Given the description of an element on the screen output the (x, y) to click on. 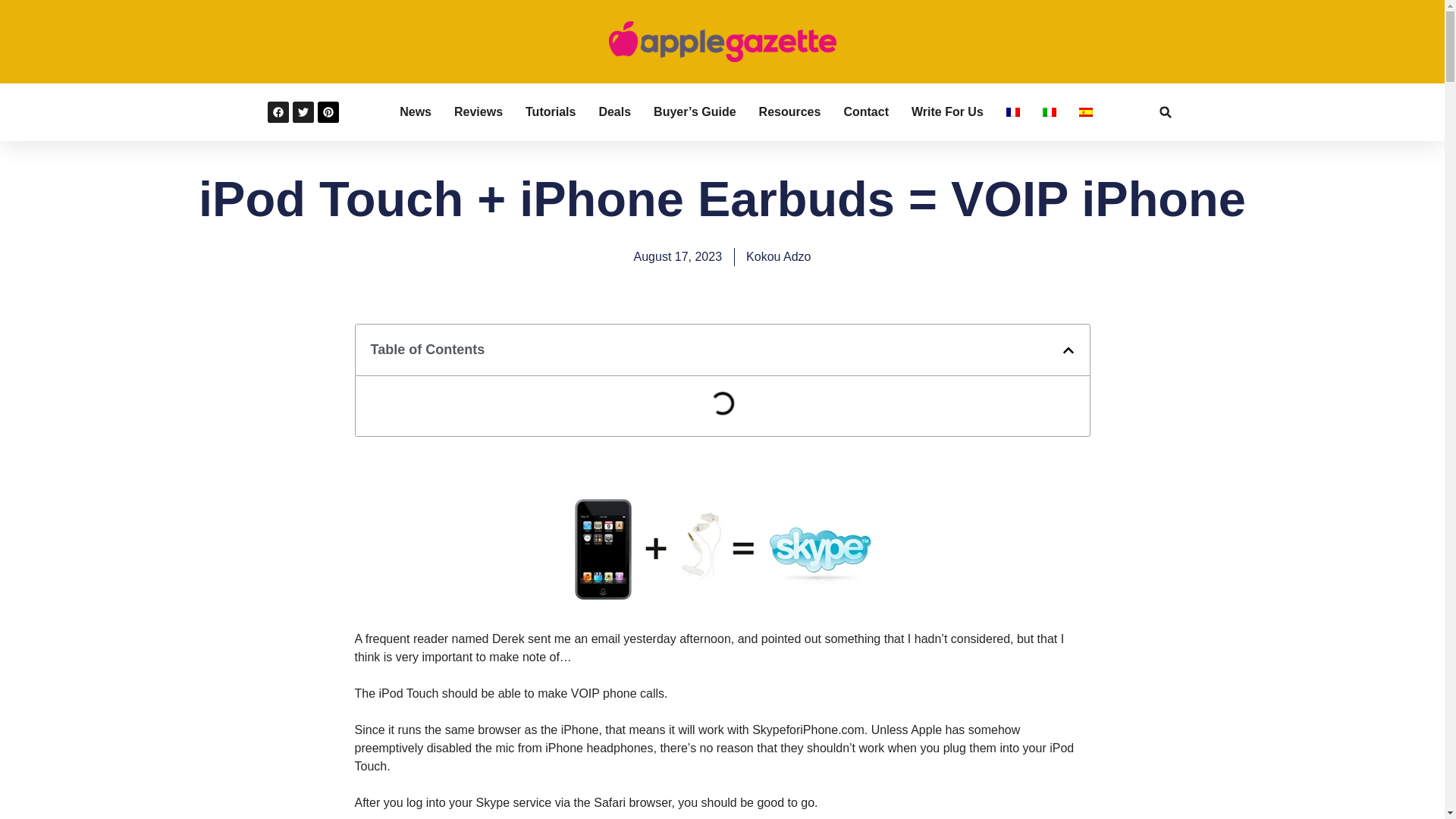
News (414, 112)
ipodtouchphone.jpg (721, 602)
Resources (789, 112)
Reviews (478, 112)
Write For Us (947, 112)
Tutorials (550, 112)
Deals (614, 112)
Contact (865, 112)
